Given the description of an element on the screen output the (x, y) to click on. 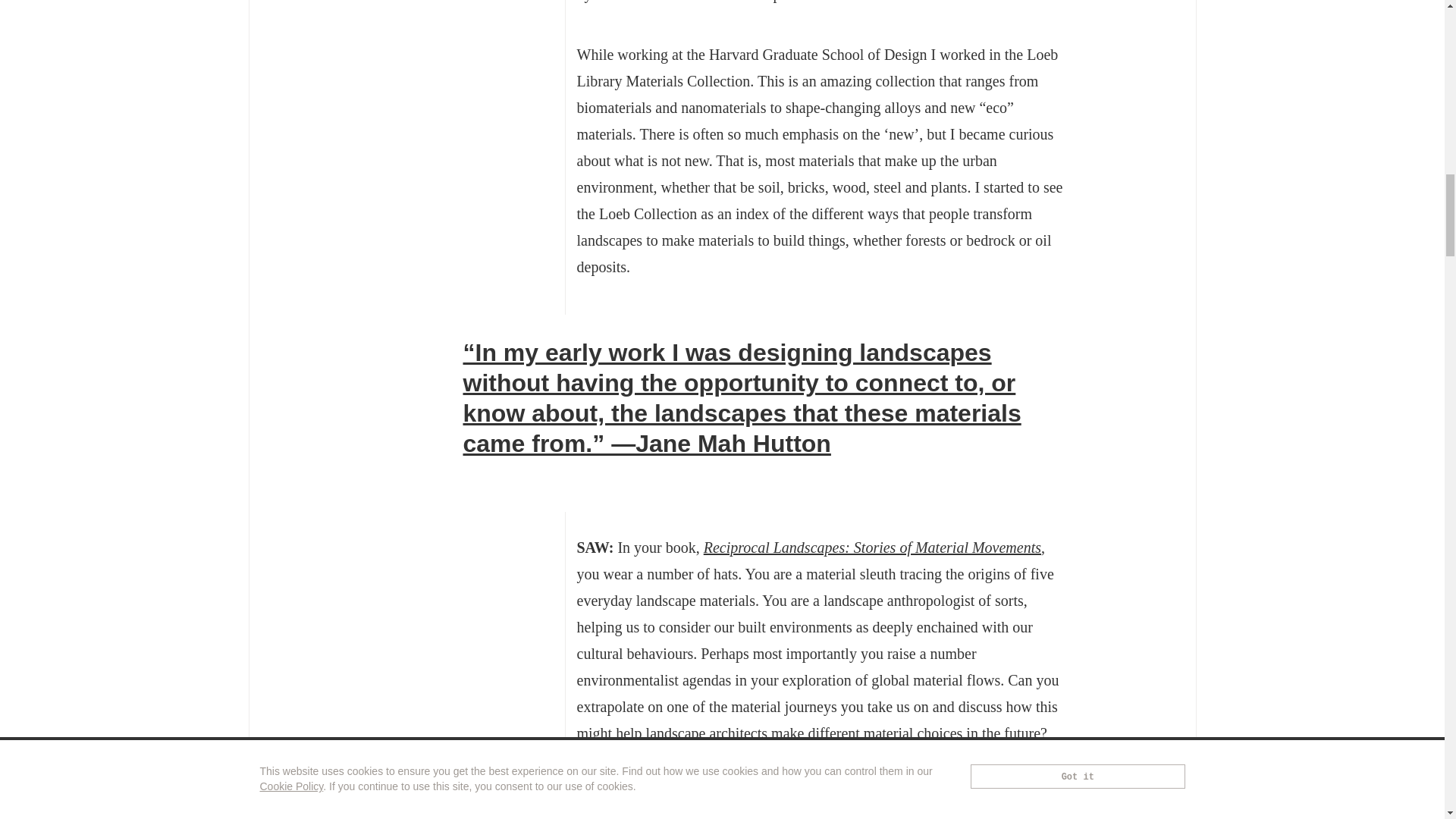
Reciprocal Landscapes: Stories of Material Movements (872, 547)
twitter (469, 475)
